Given the description of an element on the screen output the (x, y) to click on. 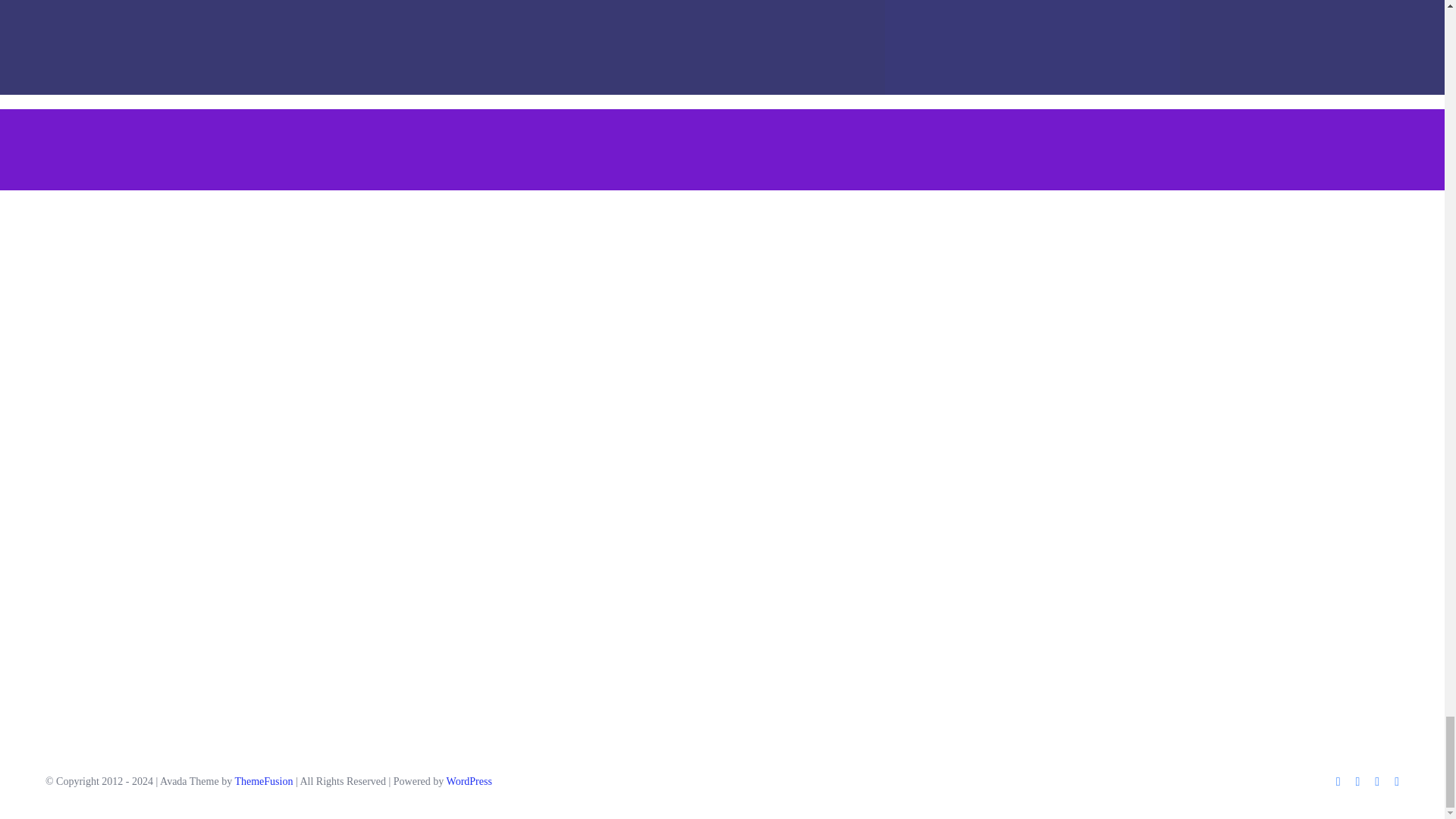
WordPress (469, 781)
side by side (569, 464)
ThemeFusion (263, 781)
